Given the description of an element on the screen output the (x, y) to click on. 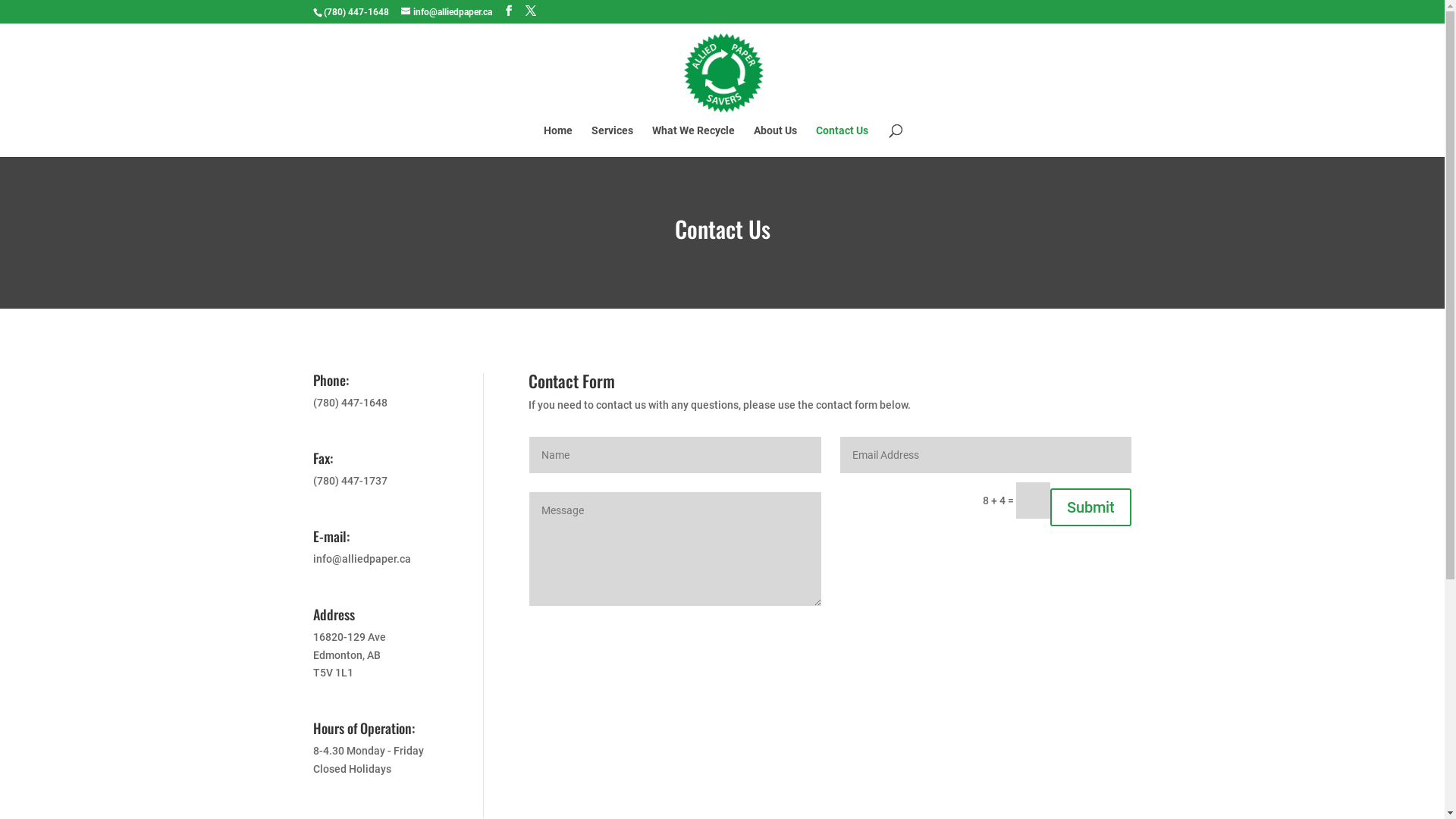
Home Element type: text (557, 140)
Submit Element type: text (1090, 507)
Contact Us Element type: text (841, 140)
About Us Element type: text (775, 140)
info@alliedpaper.ca Element type: text (446, 11)
Services Element type: text (612, 140)
What We Recycle Element type: text (693, 140)
